Given the description of an element on the screen output the (x, y) to click on. 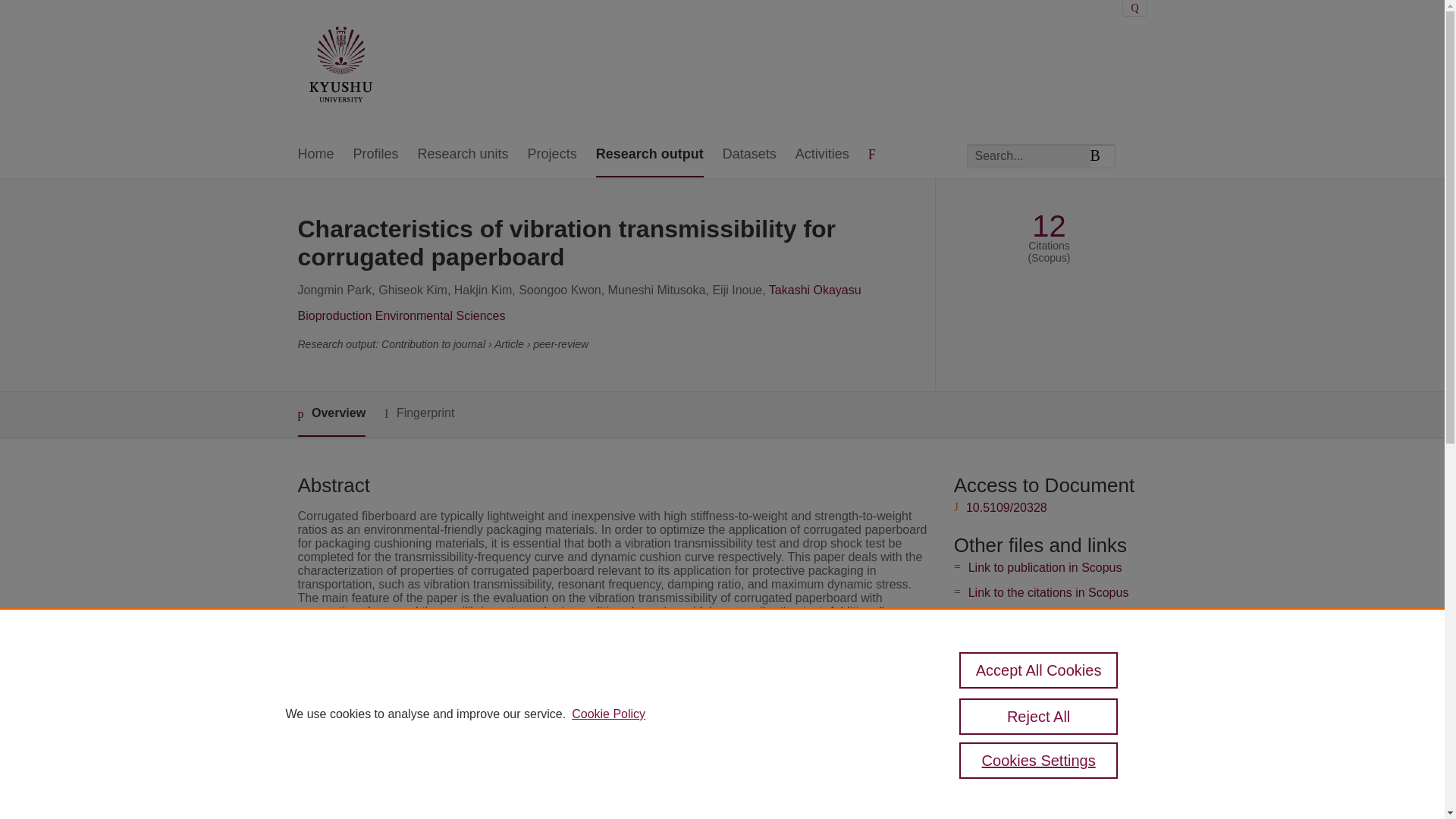
Overview (331, 414)
Profiles (375, 154)
Takashi Okayasu (814, 289)
Bioproduction Environmental Sciences (401, 315)
Journal of the Faculty of Agriculture, Kyushu University (651, 729)
Research output (649, 154)
Research units (462, 154)
Fingerprint (419, 413)
Datasets (749, 154)
12 (1048, 225)
Projects (551, 154)
Activities (821, 154)
Link to the citations in Scopus (1048, 592)
Link to publication in Scopus (1045, 567)
